Given the description of an element on the screen output the (x, y) to click on. 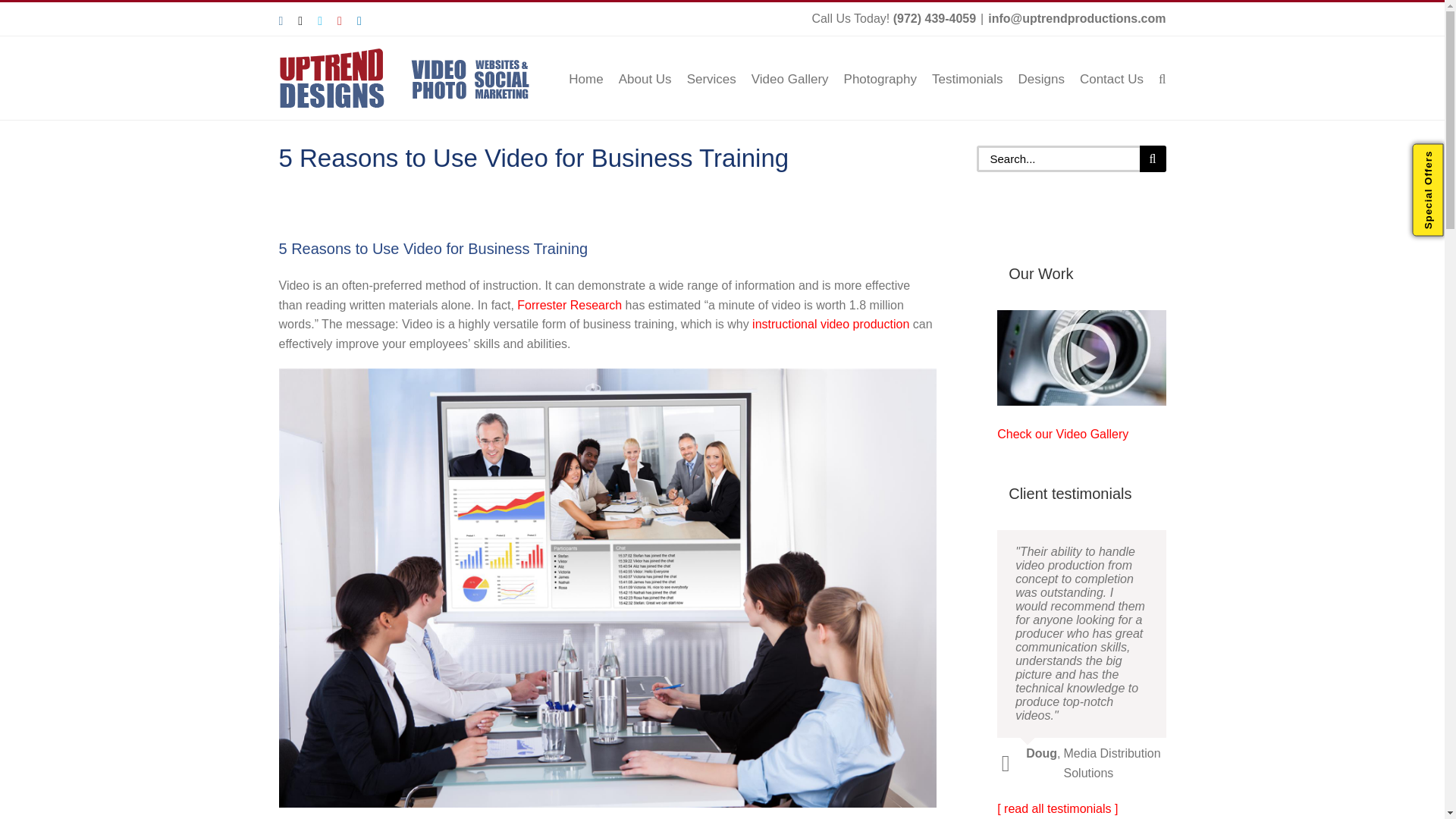
About Us (644, 77)
LinkedIn (358, 21)
Home (585, 77)
YouTube (339, 21)
YouTube (339, 21)
X (300, 21)
Testimonials (967, 77)
Contact Us (1111, 77)
Vimeo (319, 21)
Vimeo (319, 21)
X (300, 21)
Video Gallery (789, 77)
Instagram (281, 21)
Services (711, 77)
